Given the description of an element on the screen output the (x, y) to click on. 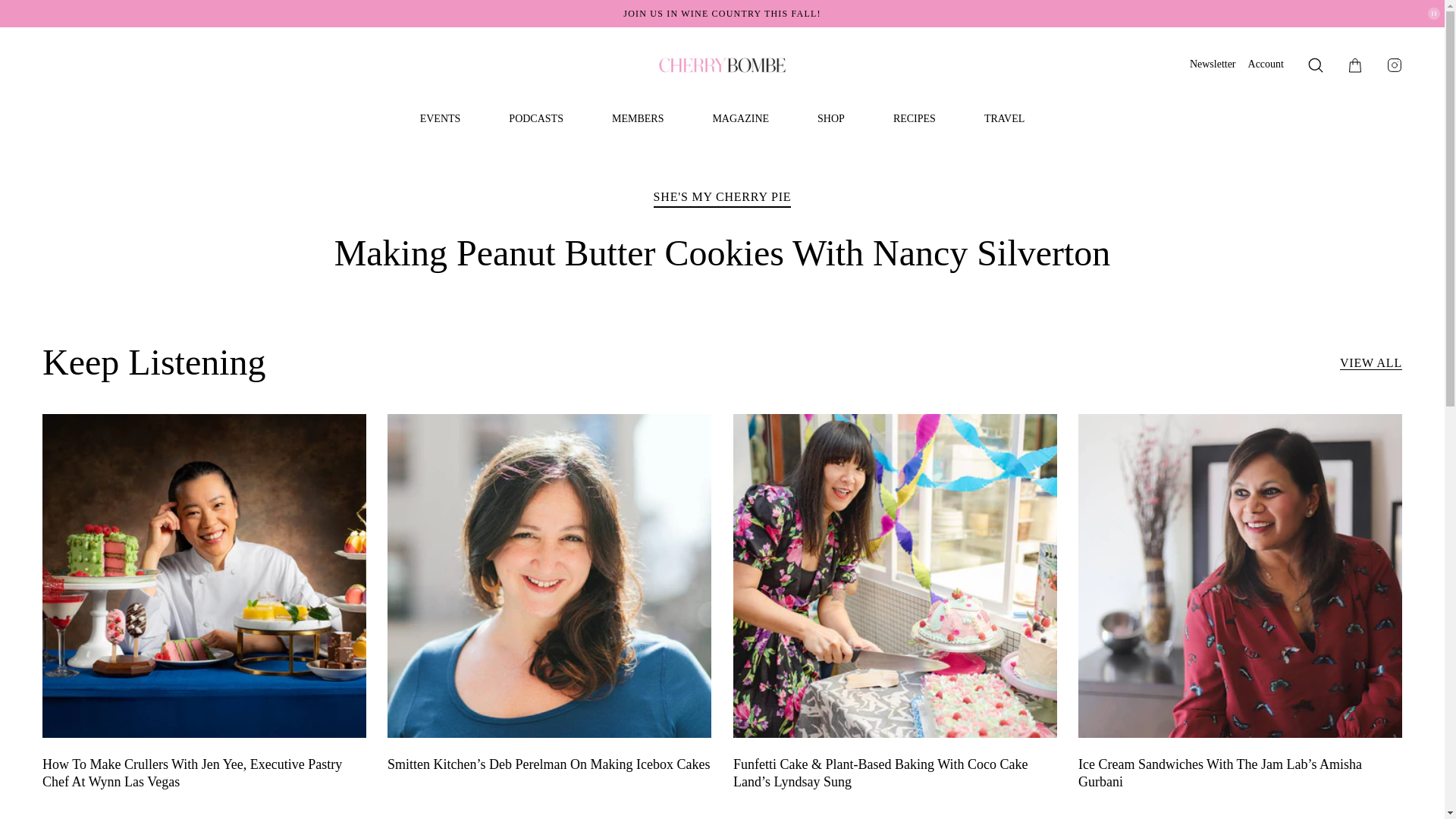
PODCASTS (535, 119)
Account (1265, 64)
MEMBERS (637, 119)
Search (1315, 64)
MAGAZINE (739, 119)
SHOP (830, 119)
EVENTS (440, 119)
JOIN US IN WINE COUNTRY THIS FALL! (722, 13)
Newsletter (1212, 64)
